Given the description of an element on the screen output the (x, y) to click on. 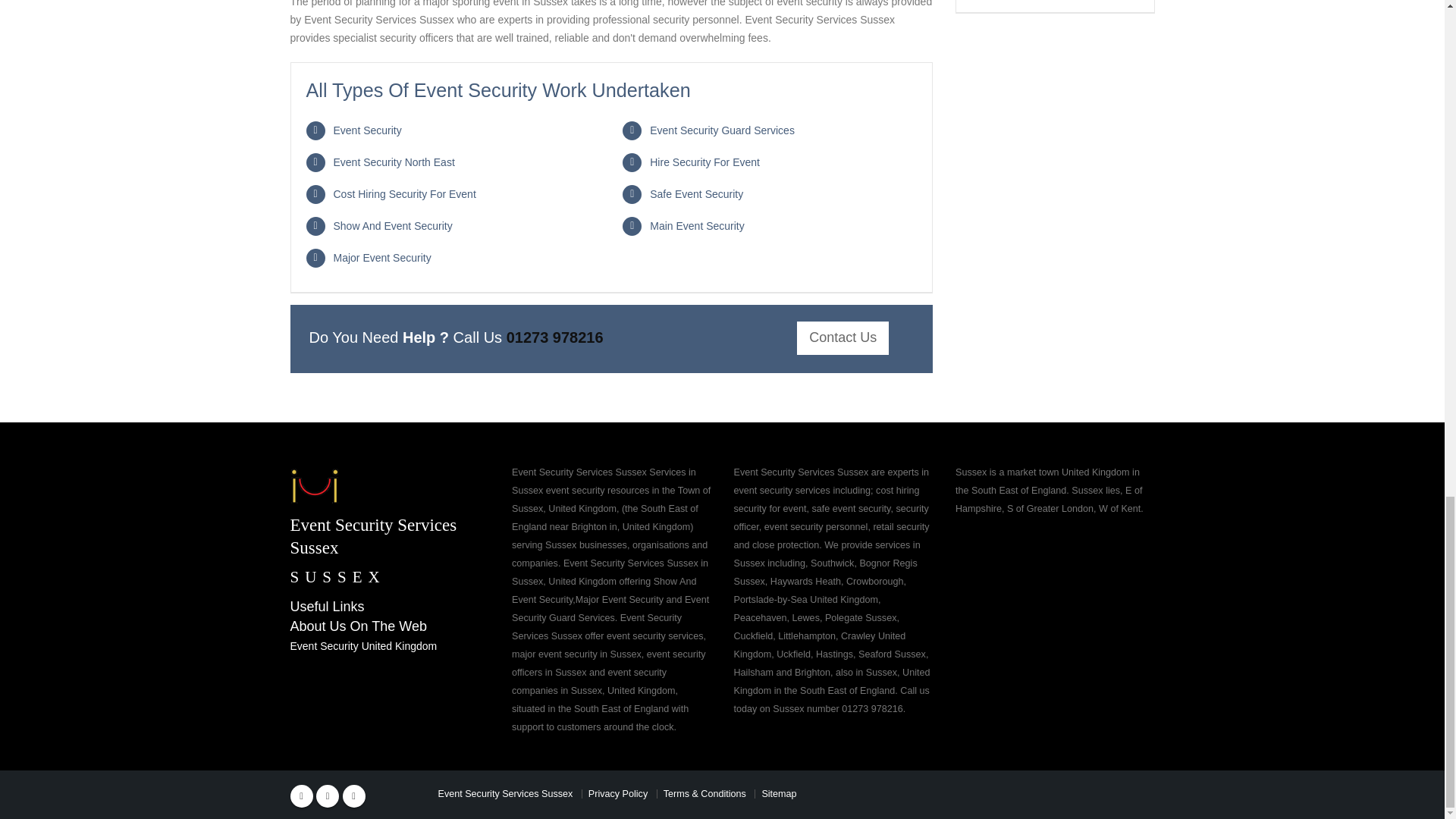
Cost Hiring Security For Event (404, 193)
Contact Us (842, 337)
Hire Security For Event (704, 162)
Event Security Guard Services (721, 130)
01273 978216 (555, 337)
About Us On The Web (380, 525)
Main Event Security (357, 626)
Linkedin (696, 225)
Show And Event Security (353, 795)
